Given the description of an element on the screen output the (x, y) to click on. 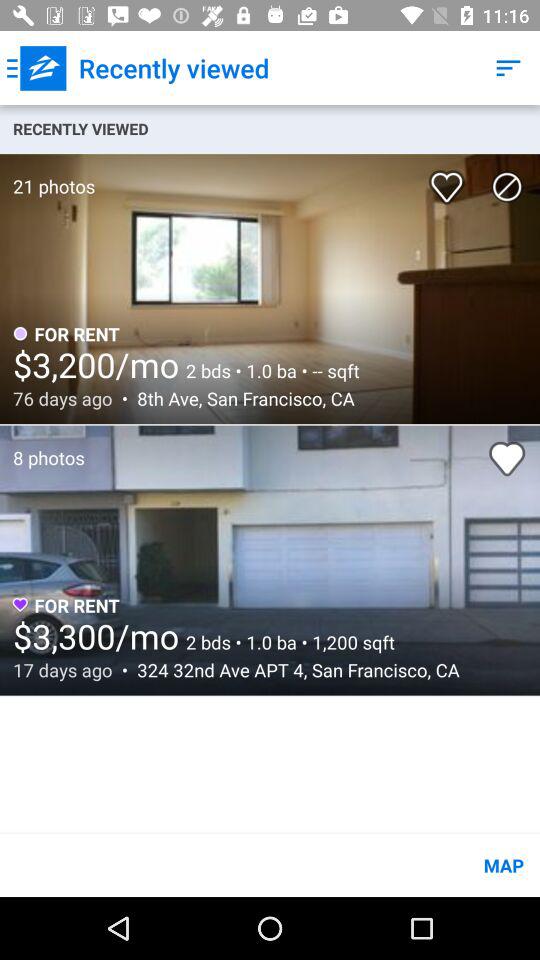
click the icon next to the 21 photos item (450, 180)
